Given the description of an element on the screen output the (x, y) to click on. 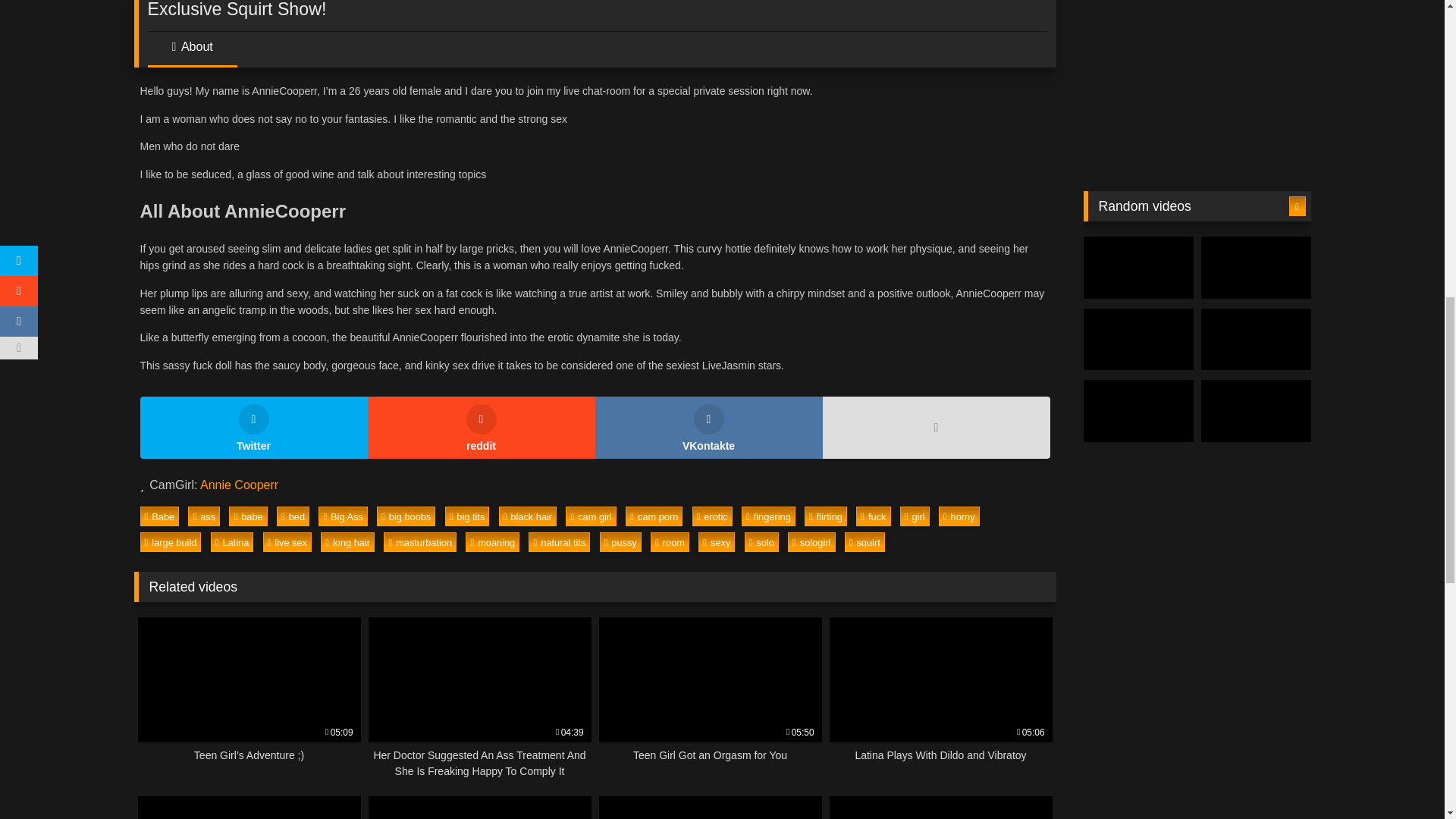
cam girl (590, 516)
VKontakte (708, 427)
Annie Cooperr (239, 484)
cam girl (590, 516)
Twitter (252, 427)
Big Ass (343, 516)
babe (247, 516)
Big Ass (343, 516)
About (191, 52)
Babe (159, 516)
